Given the description of an element on the screen output the (x, y) to click on. 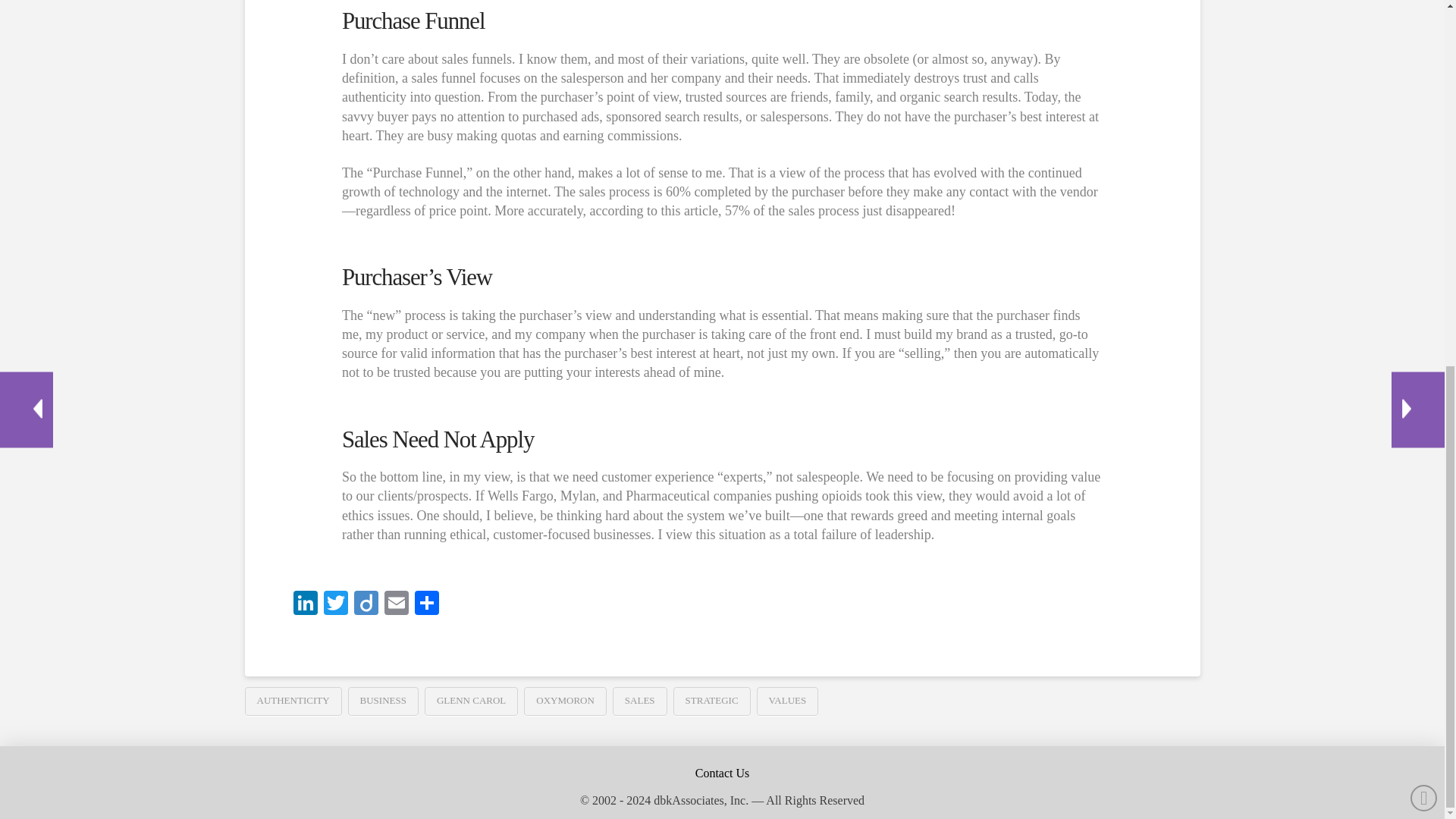
Share (425, 604)
LinkedIn (304, 604)
Diigo (365, 604)
Email (395, 604)
VALUES (787, 701)
Back to Top (1423, 138)
AUTHENTICITY (292, 701)
BUSINESS (383, 701)
OXYMORON (565, 701)
Twitter (335, 604)
STRATEGIC (711, 701)
Contact Us (722, 773)
GLENN CAROL (471, 701)
LinkedIn (304, 604)
Email (395, 604)
